Given the description of an element on the screen output the (x, y) to click on. 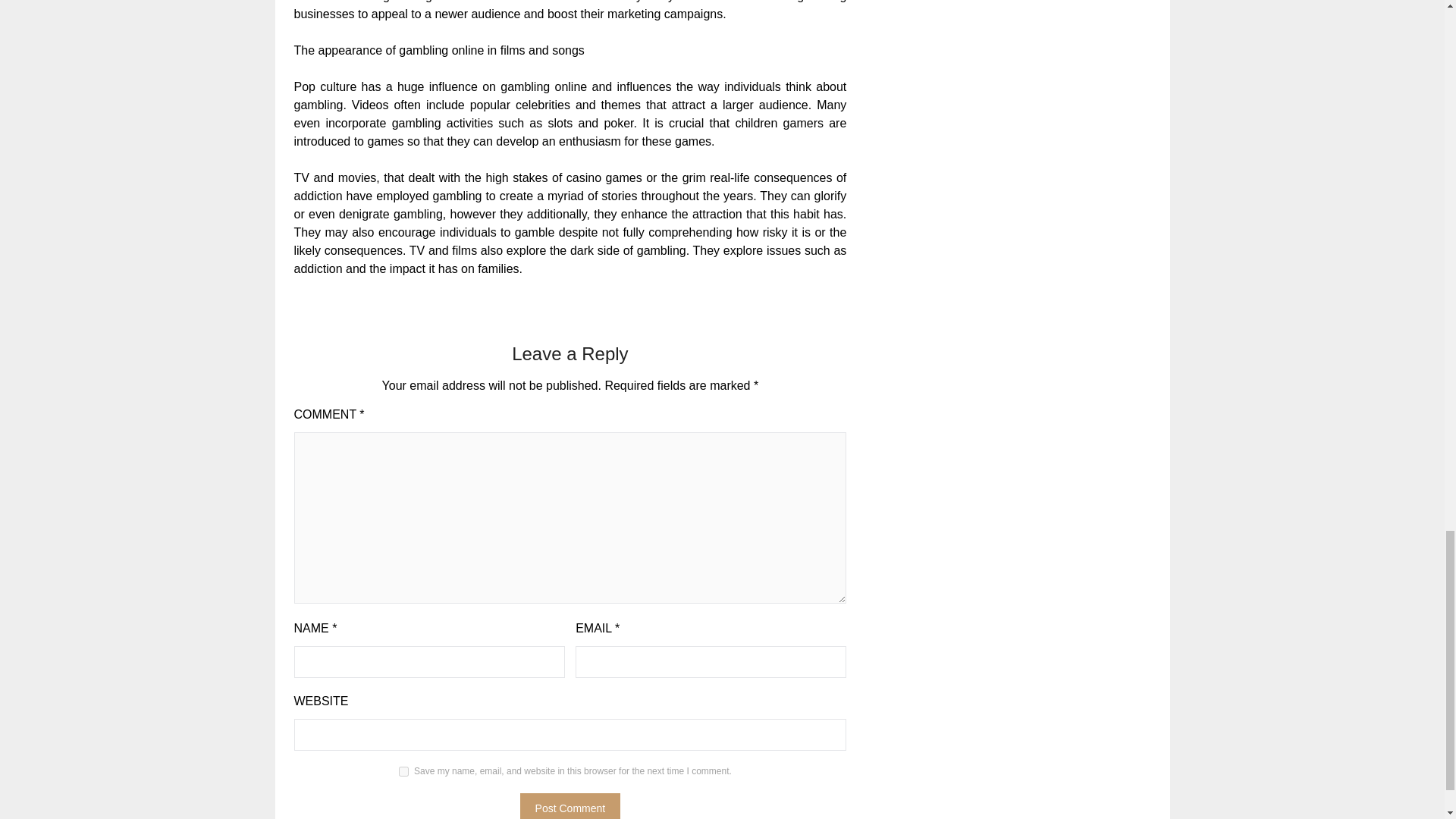
Post Comment (570, 806)
yes (403, 771)
Post Comment (570, 806)
